Given the description of an element on the screen output the (x, y) to click on. 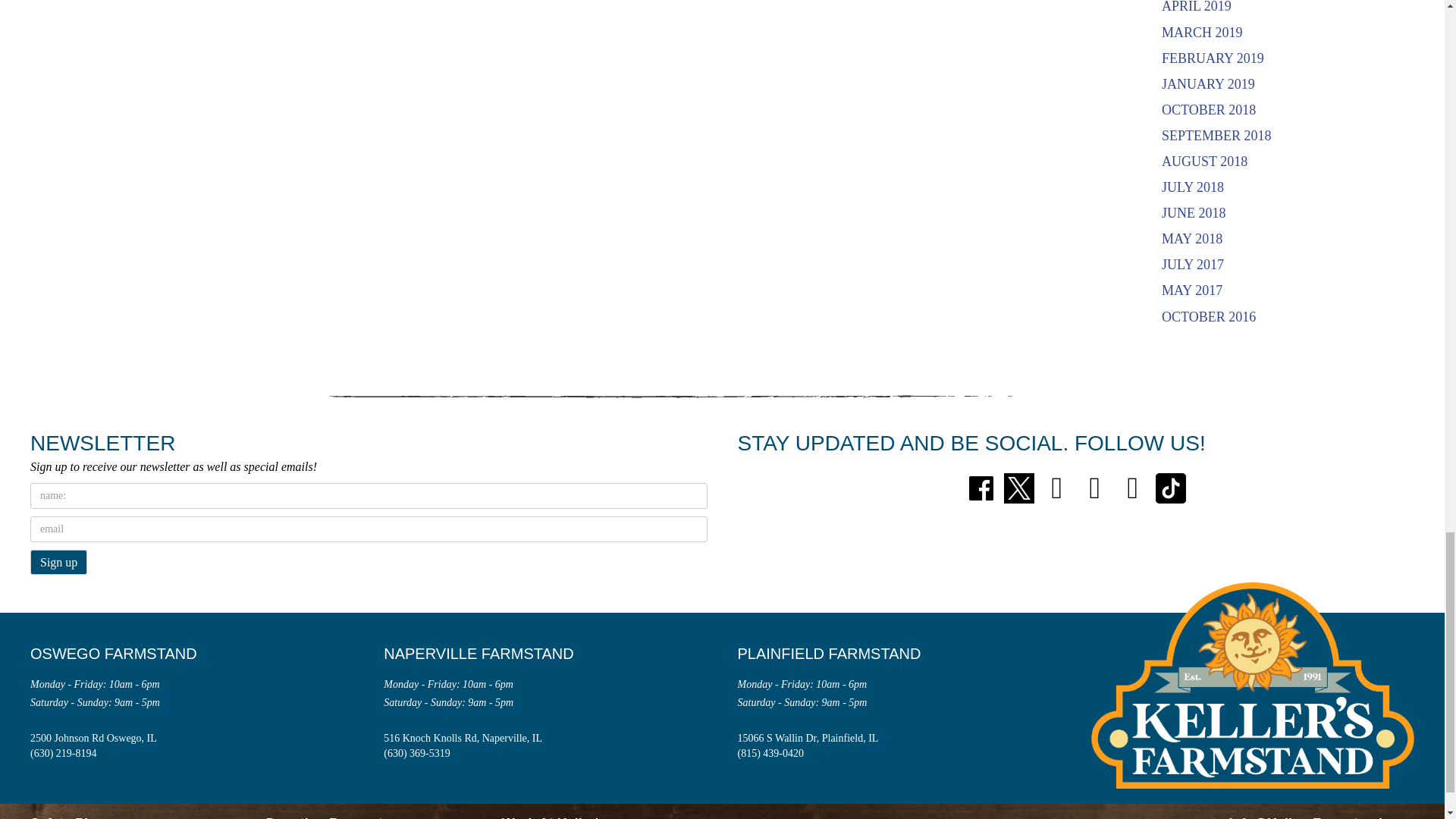
Naperville Farmstand (489, 653)
Plainfield Farmstand (839, 653)
Oswego Farmstand (124, 653)
X-black copy (1018, 488)
tiktok-share-icon-black-logo-29FFD062A0-seeklogo.com (1171, 488)
Sign up (58, 561)
